Given the description of an element on the screen output the (x, y) to click on. 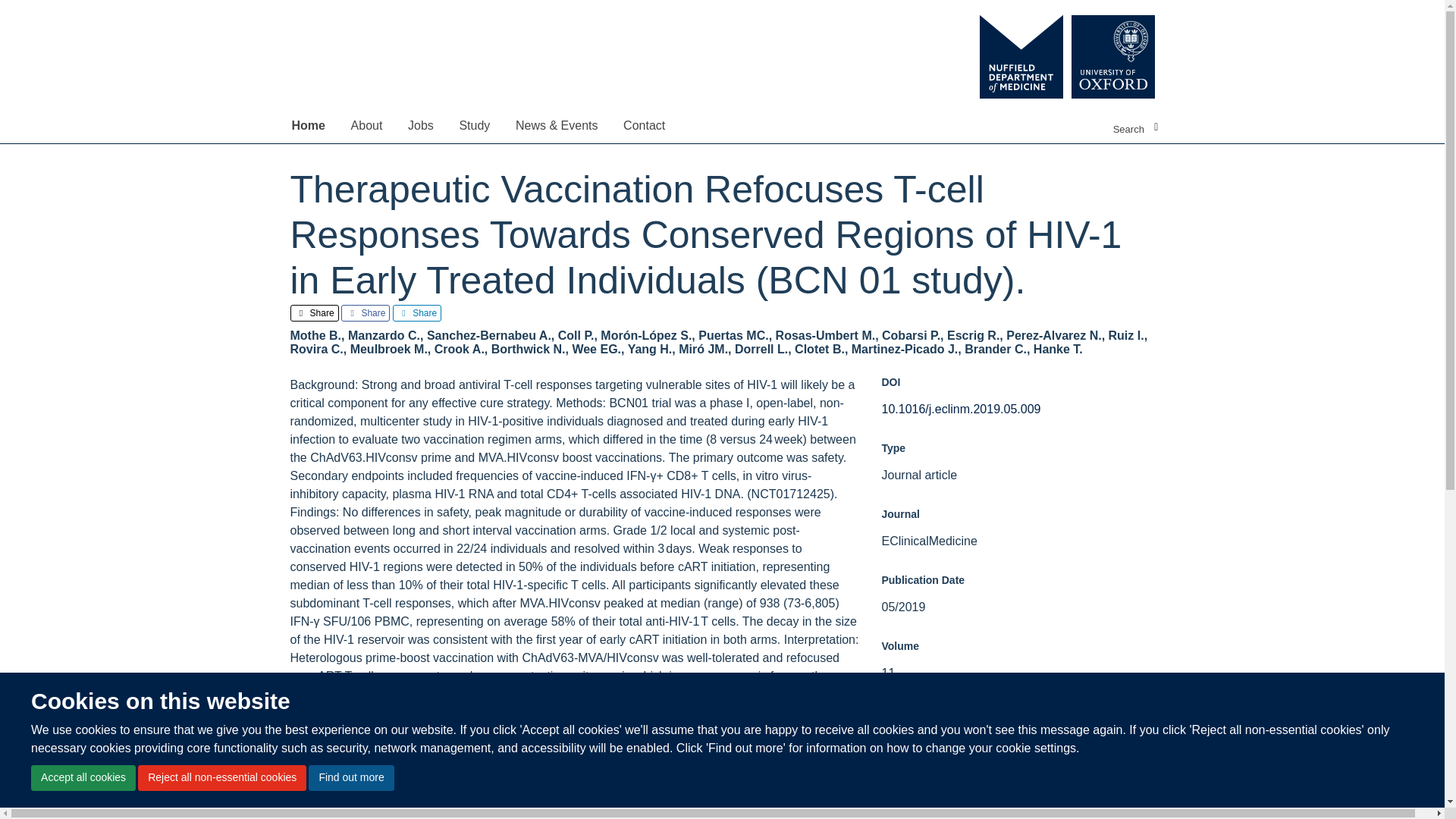
Find out more (350, 777)
Reject all non-essential cookies (221, 777)
Accept all cookies (82, 777)
